Given the description of an element on the screen output the (x, y) to click on. 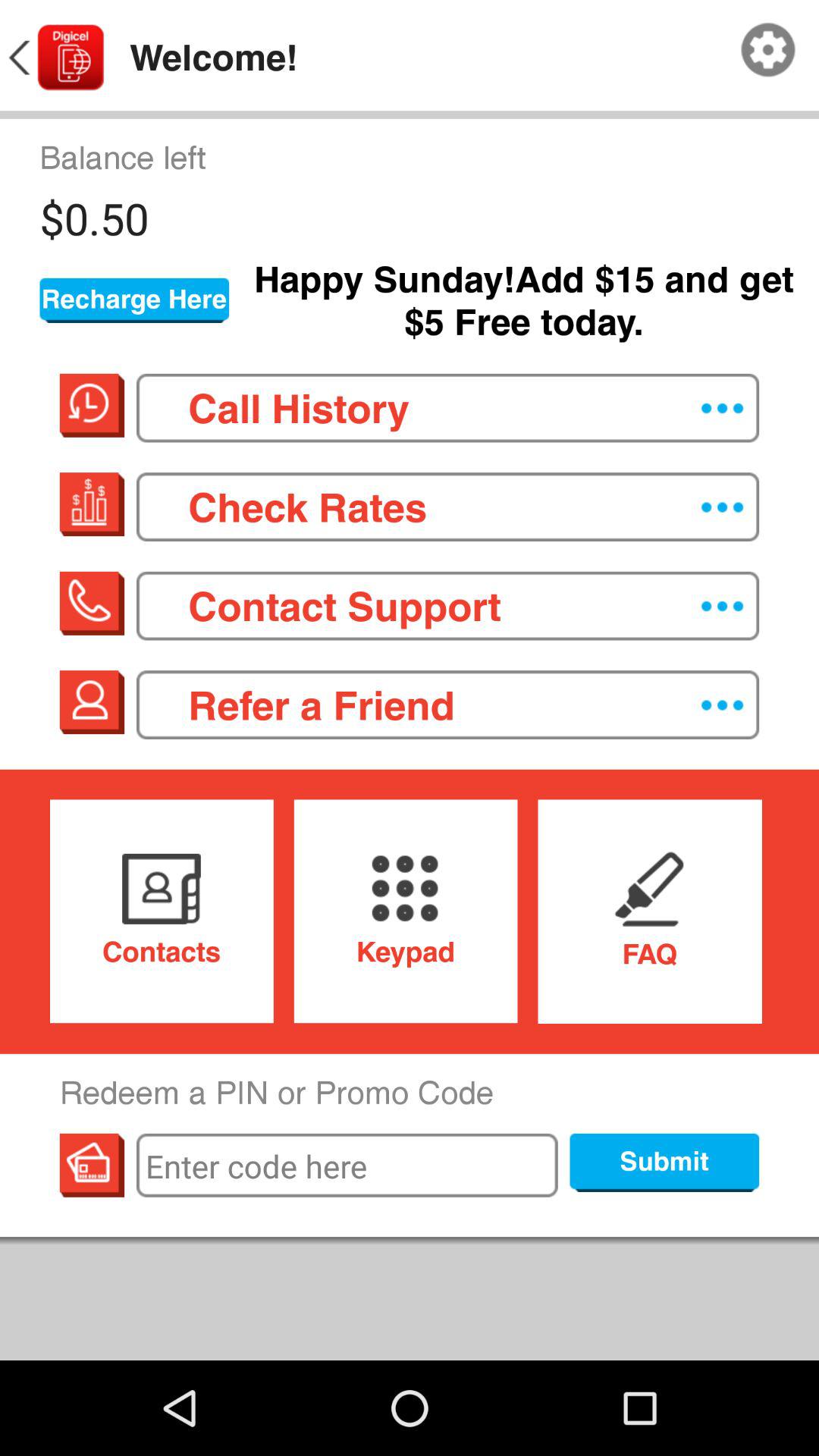
select the item below the $0.50 (134, 300)
